Given the description of an element on the screen output the (x, y) to click on. 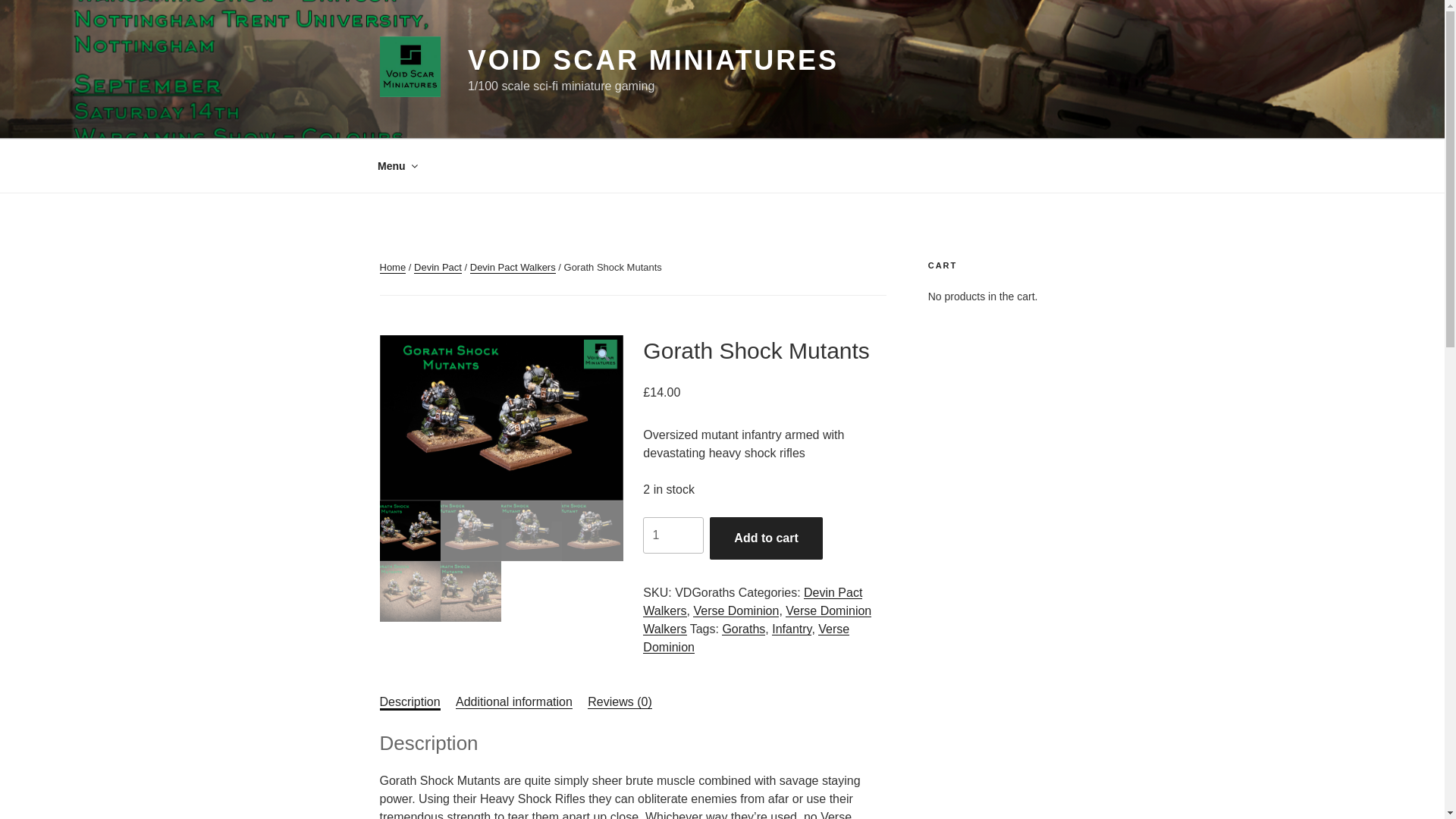
Menu (396, 165)
Gorath logo (500, 417)
VOID SCAR MINIATURES (652, 60)
1 (673, 534)
